Given the description of an element on the screen output the (x, y) to click on. 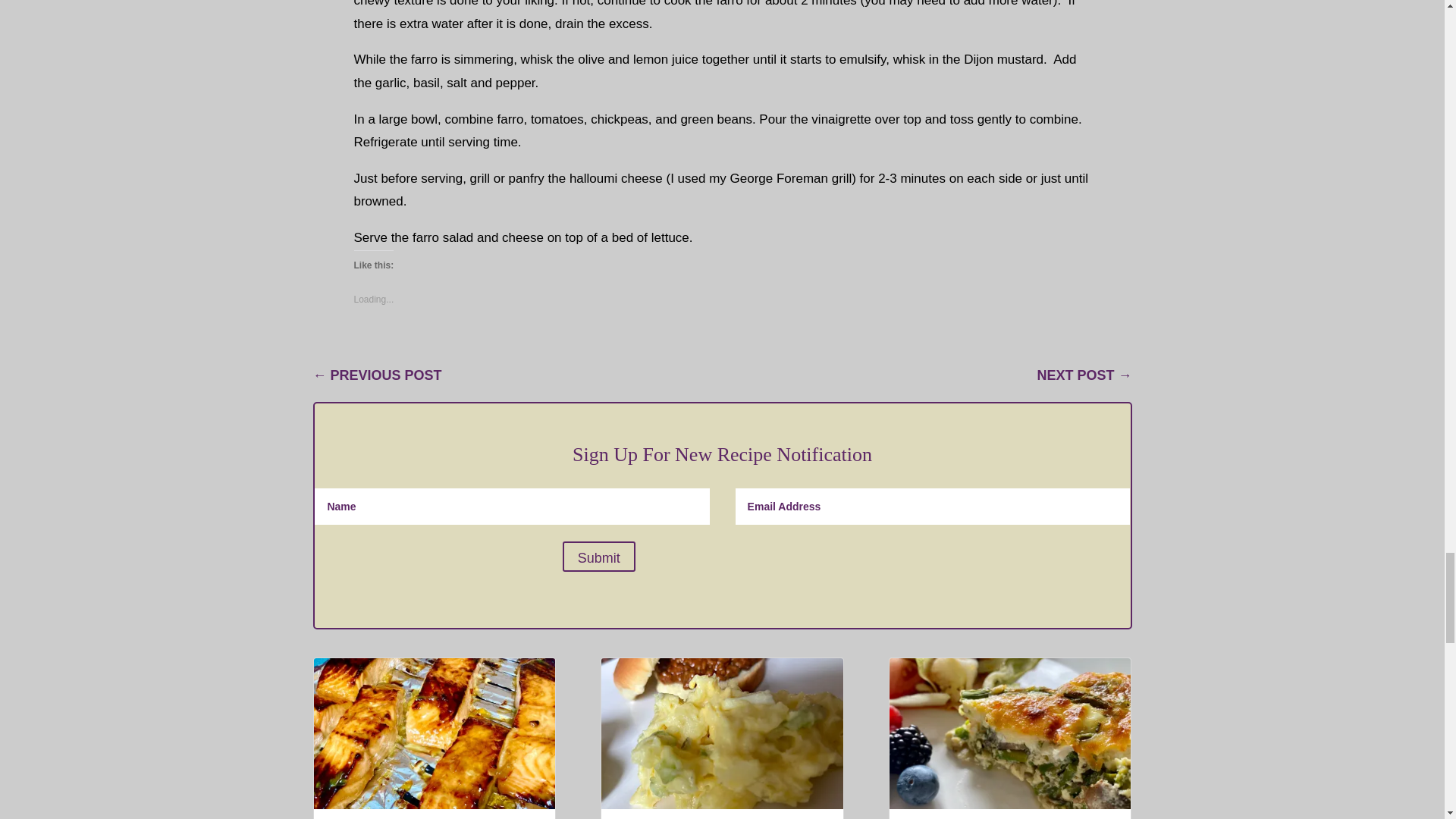
Submit (598, 556)
